Given the description of an element on the screen output the (x, y) to click on. 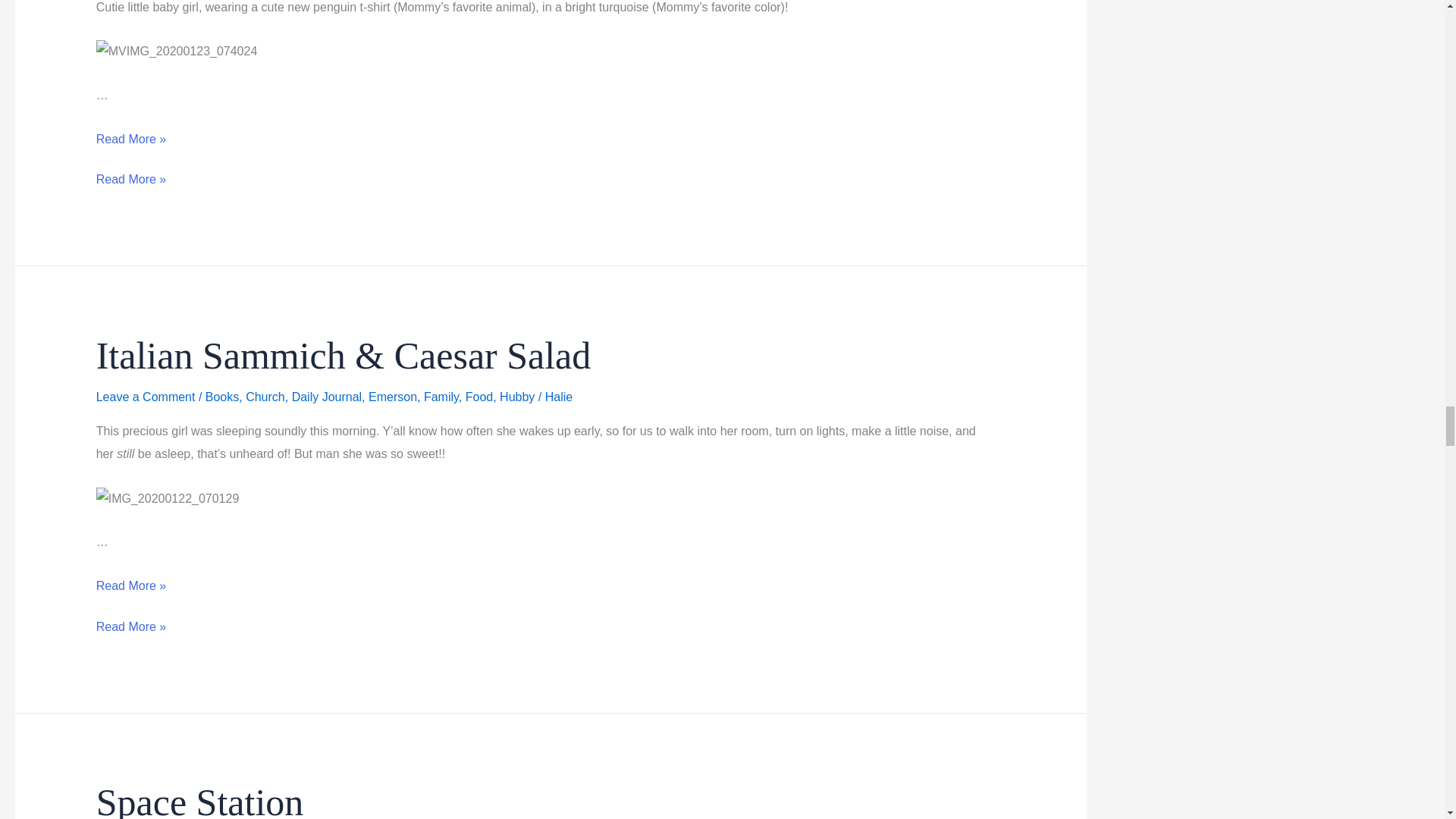
View all posts by Halie (558, 396)
